Given the description of an element on the screen output the (x, y) to click on. 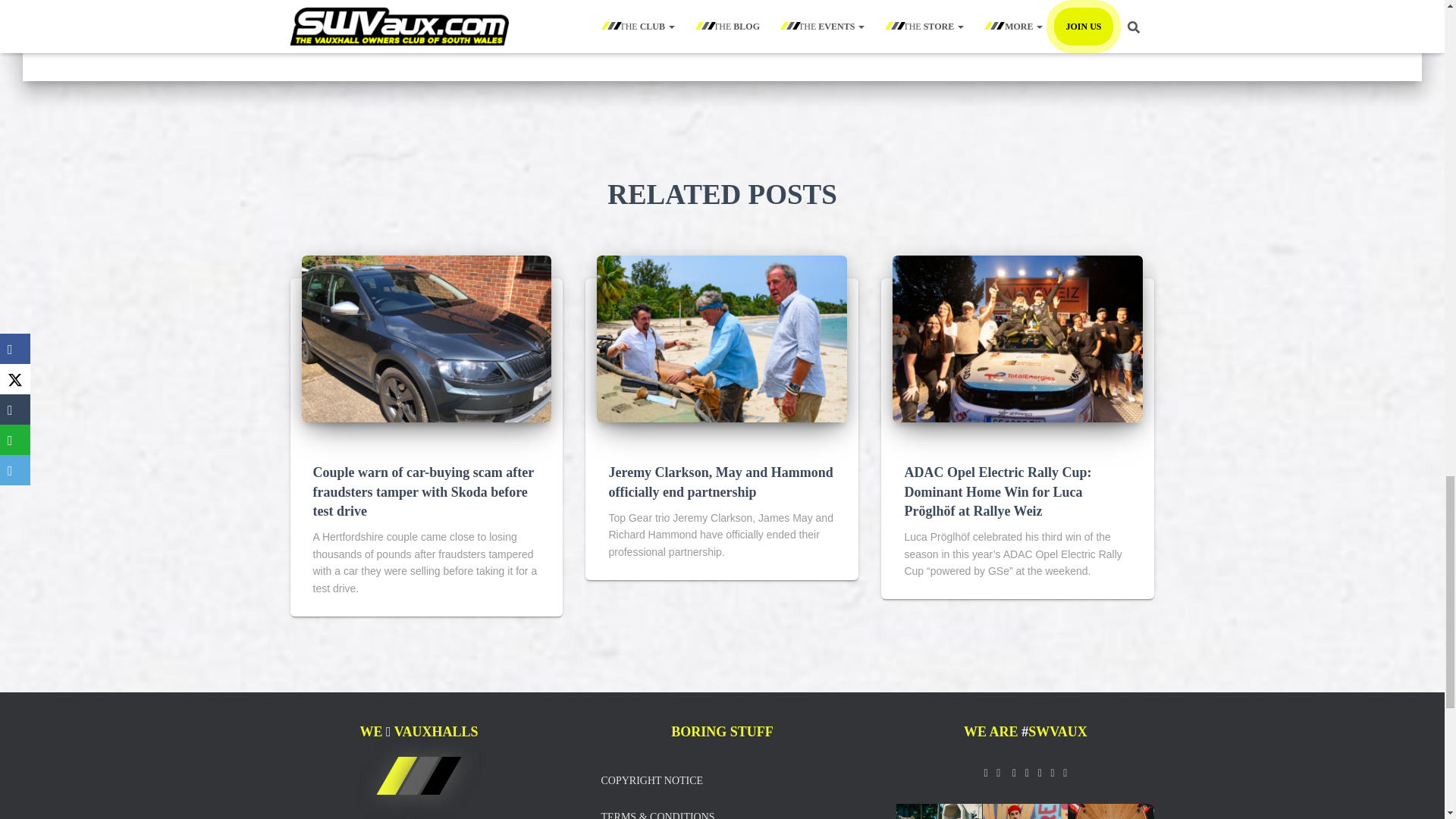
Jeremy Clarkson, May and Hammond officially end partnership (720, 481)
